Given the description of an element on the screen output the (x, y) to click on. 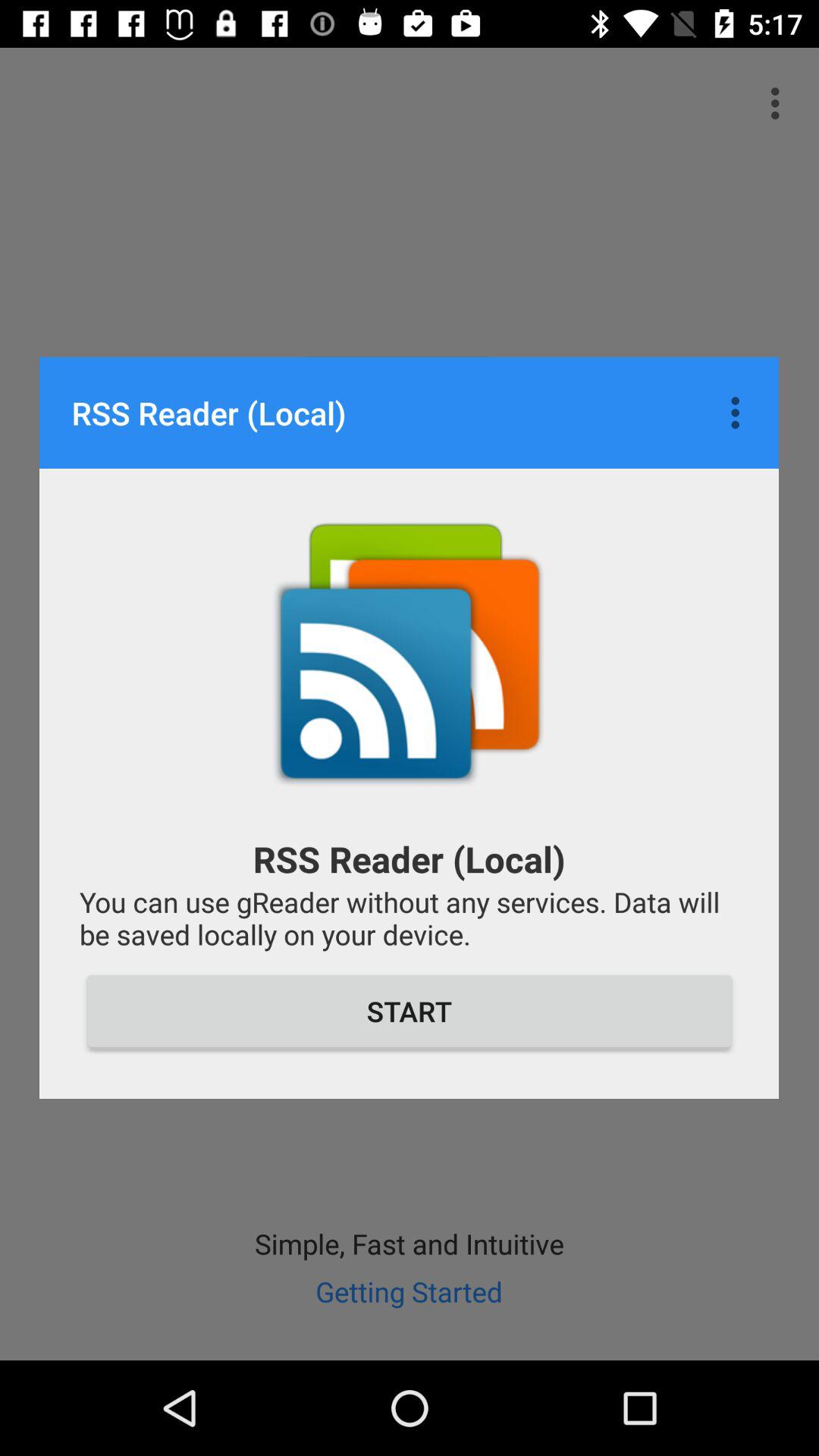
flip to the start (409, 1011)
